Given the description of an element on the screen output the (x, y) to click on. 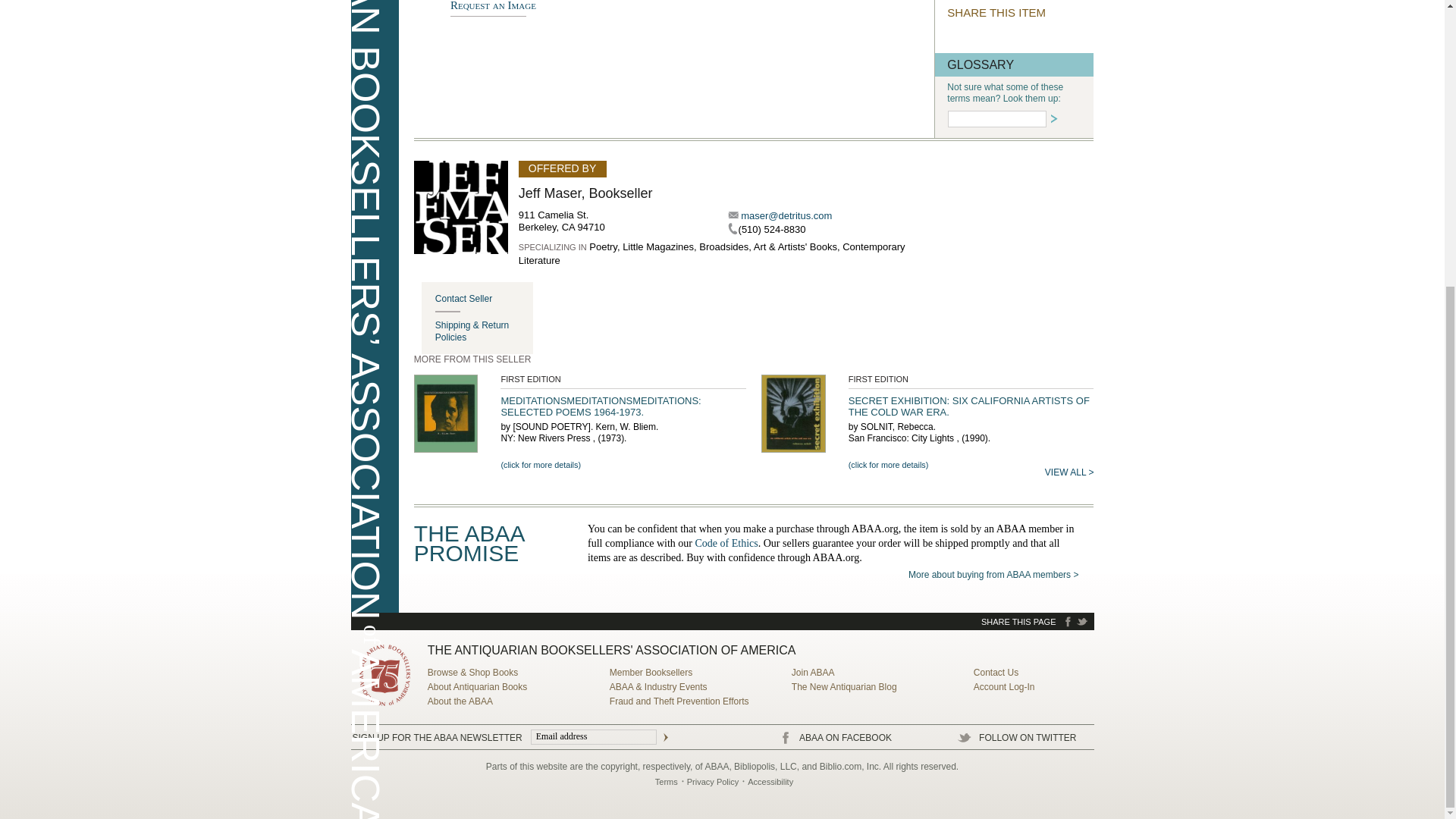
Contact Seller (483, 298)
Jeff Maser, Bookseller (585, 192)
MEDITATIONSMEDITATIONSMEDITATIONS: SELECTED POEMS 1964-1973. (600, 405)
Request an Image (492, 8)
